Given the description of an element on the screen output the (x, y) to click on. 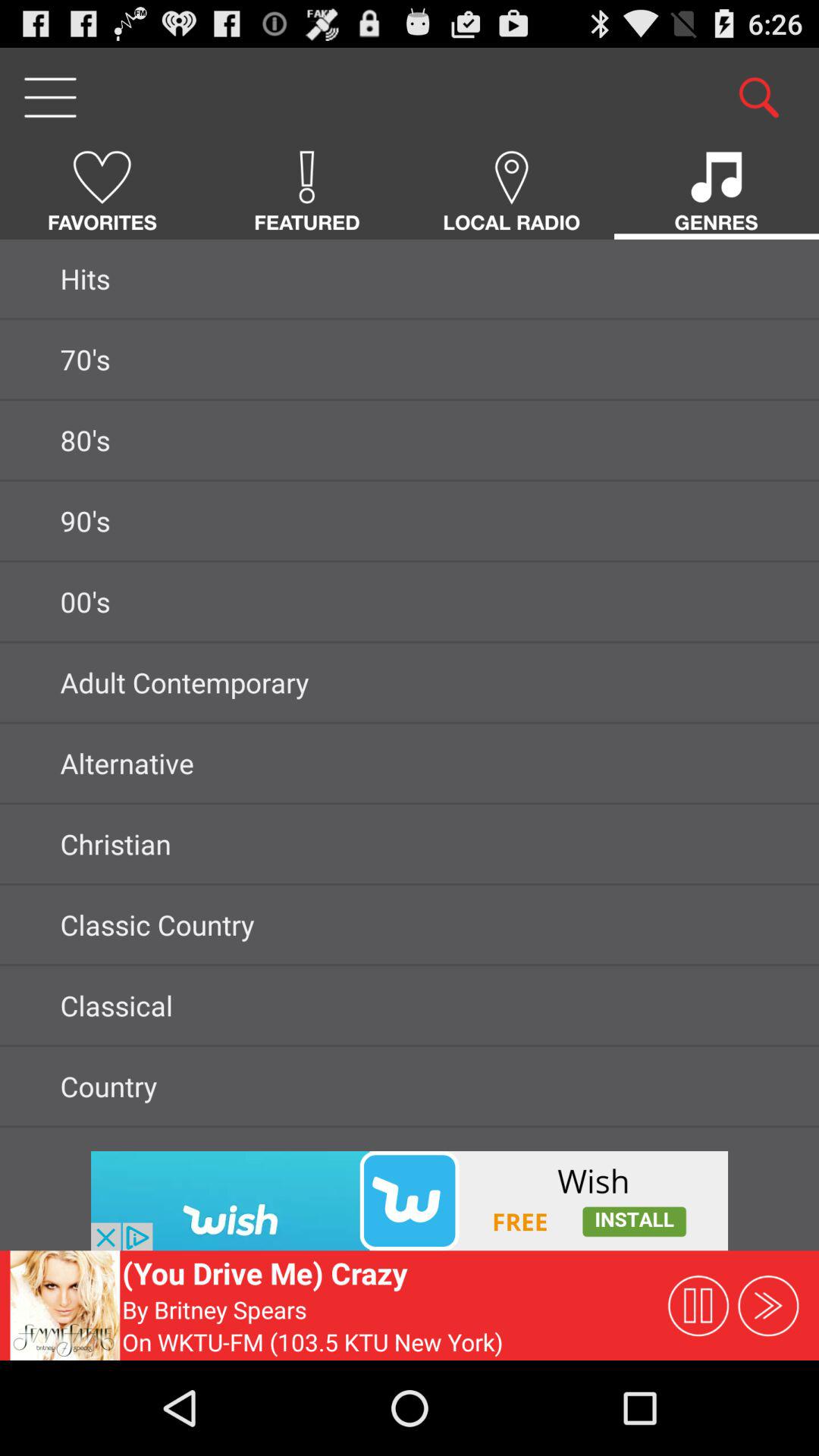
open menu (49, 97)
